Given the description of an element on the screen output the (x, y) to click on. 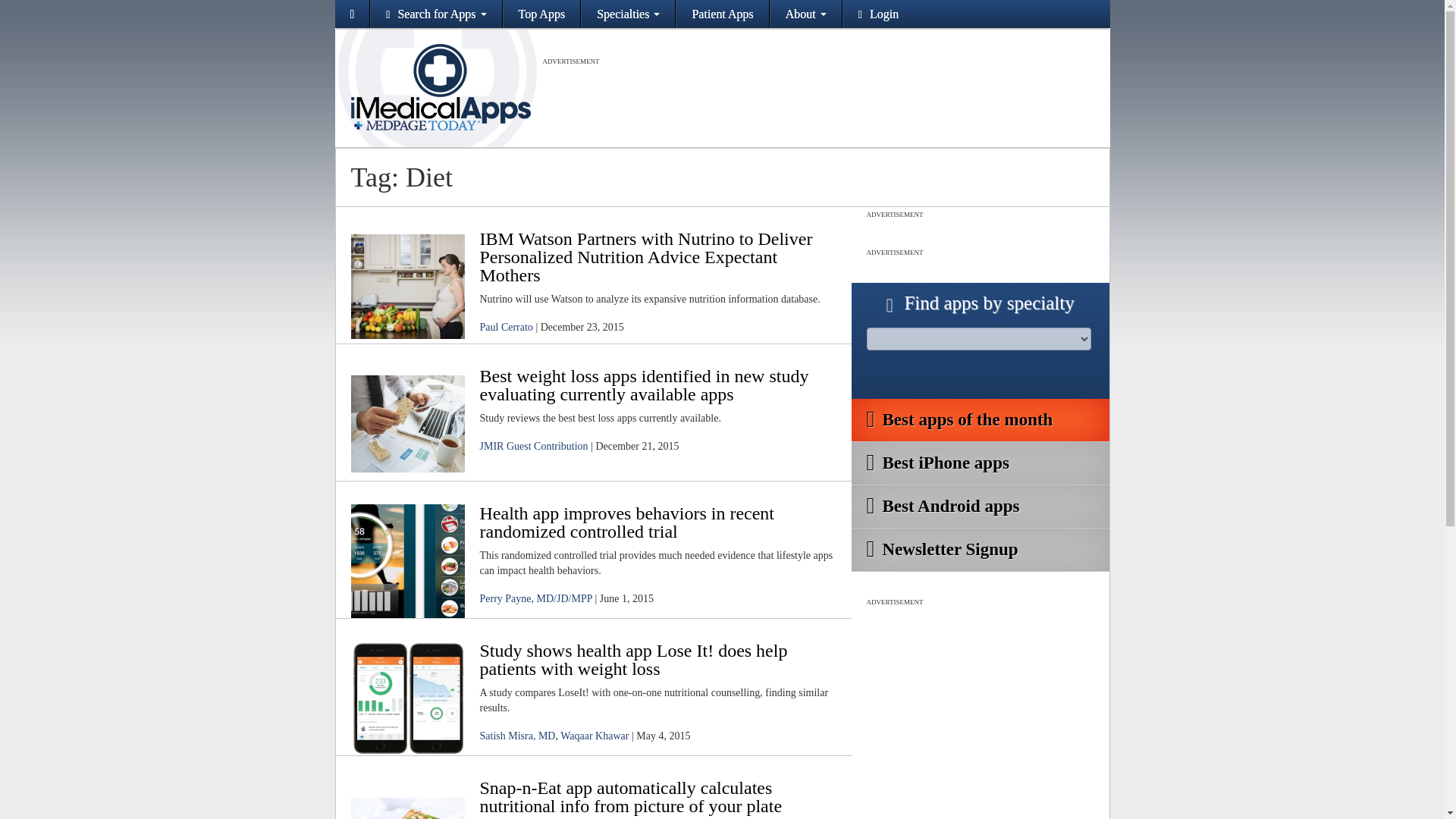
Specialties (627, 13)
Search for Apps (435, 13)
About (805, 13)
Top Apps (541, 13)
